Given the description of an element on the screen output the (x, y) to click on. 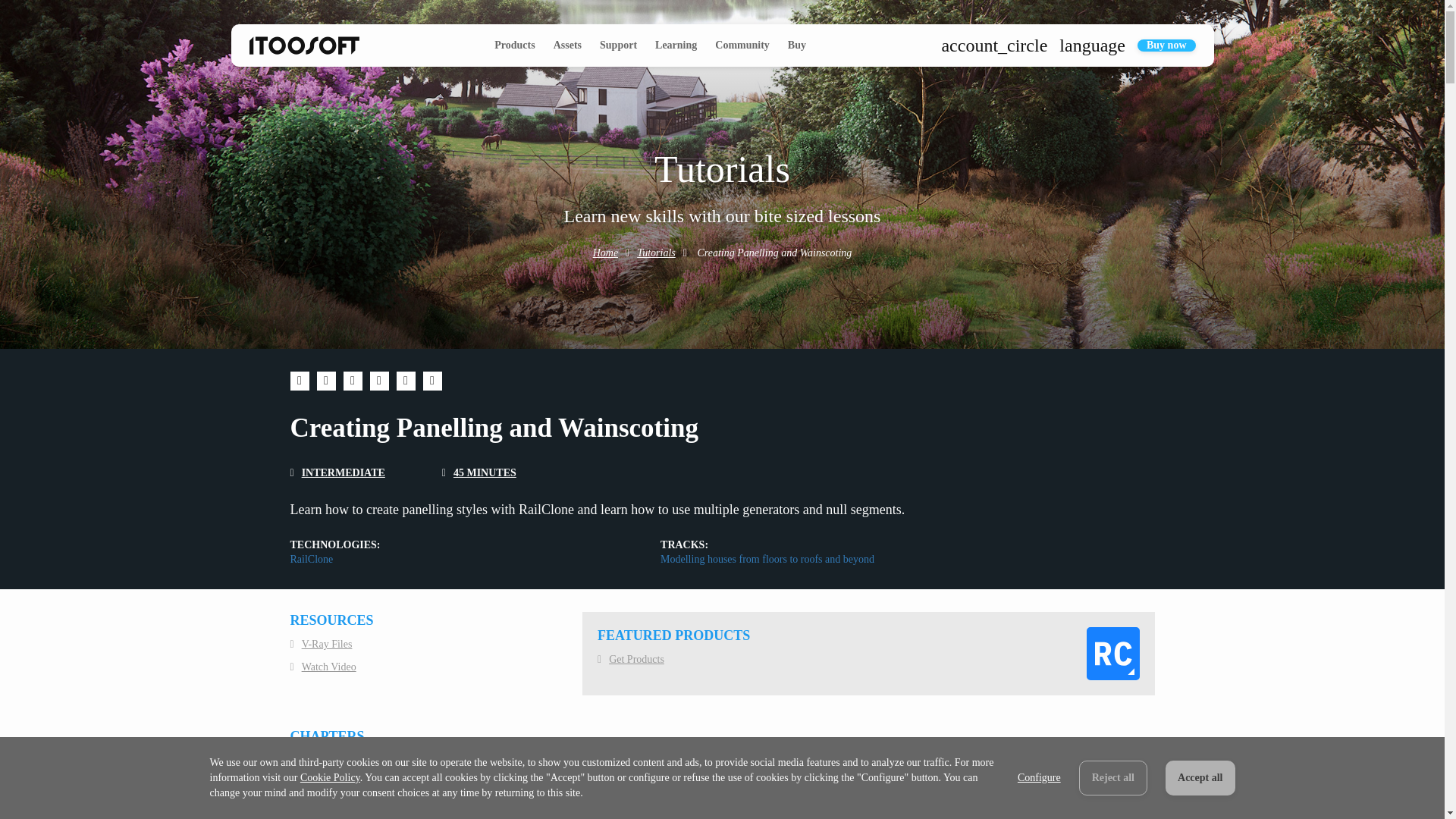
Learning (676, 45)
Share on Telegram (432, 380)
iToosoft Horizontal Logo (303, 45)
iToosoft Horizontal Logo (303, 45)
Buy (796, 45)
language (1092, 45)
Share on Facebook (298, 380)
Support (618, 45)
Share on LinkedIn (351, 380)
Products (514, 45)
